Given the description of an element on the screen output the (x, y) to click on. 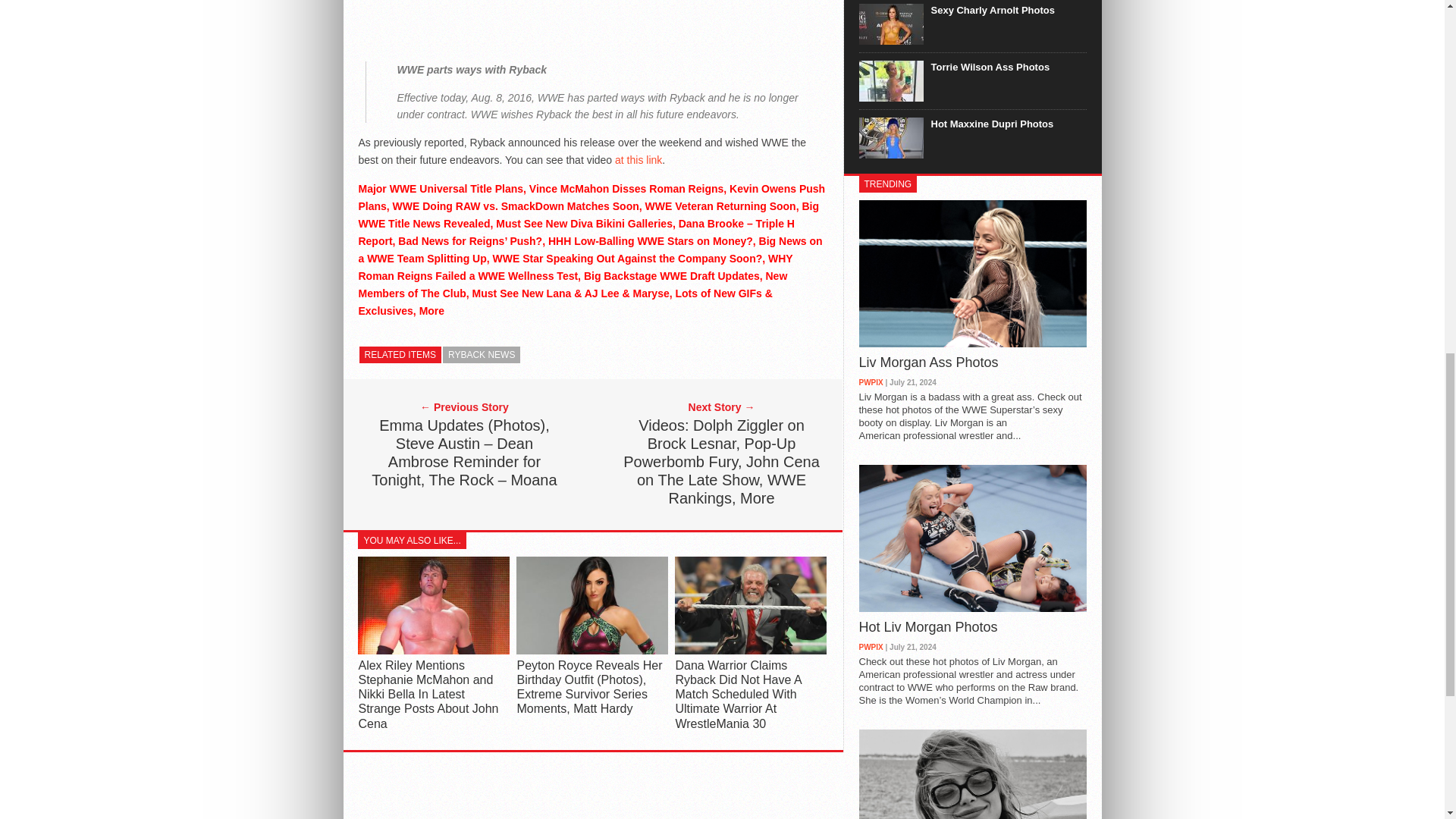
RYBACK NEWS (480, 354)
at this link (638, 159)
